Given the description of an element on the screen output the (x, y) to click on. 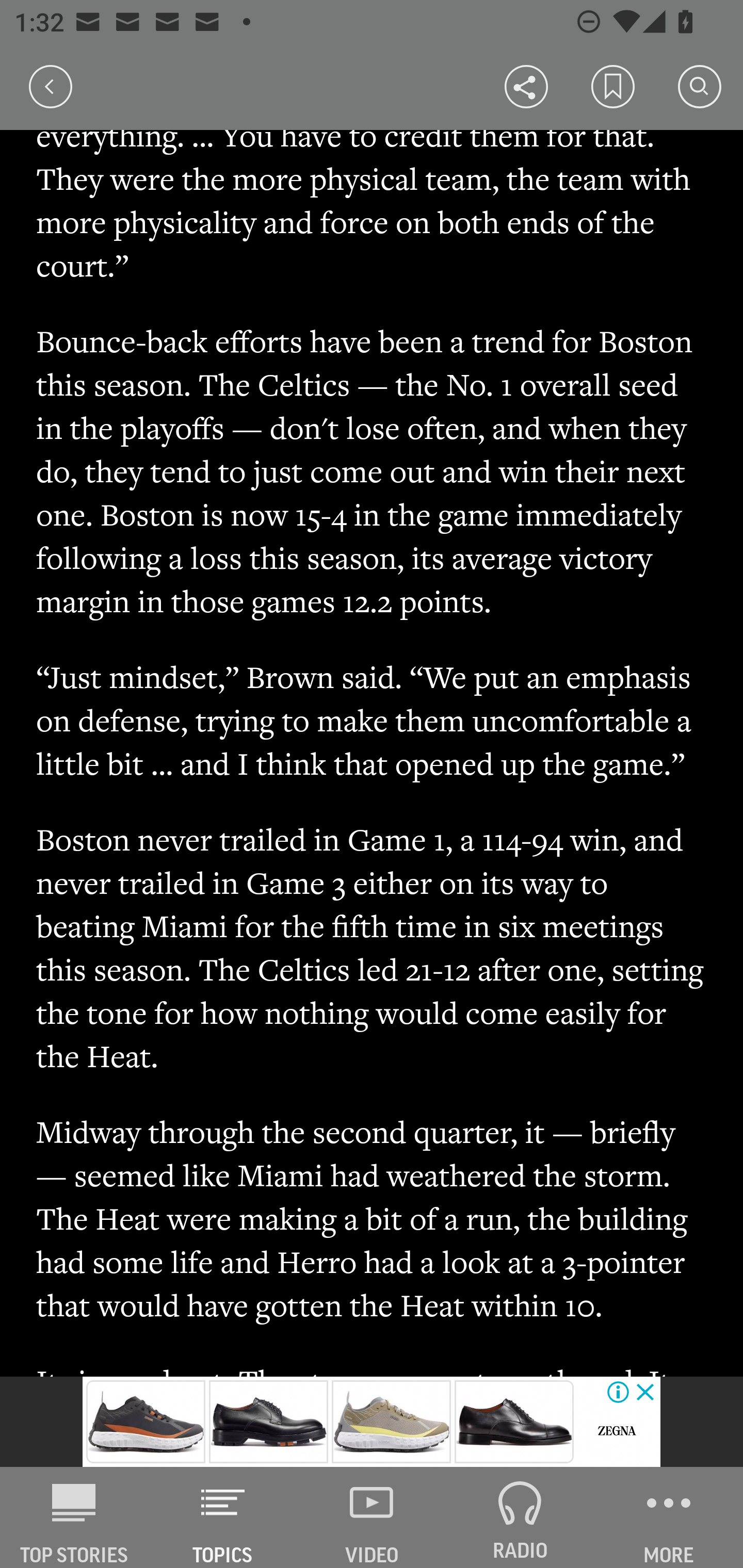
AP News TOP STORIES (74, 1517)
TOPICS (222, 1517)
VIDEO (371, 1517)
RADIO (519, 1517)
MORE (668, 1517)
